Given the description of an element on the screen output the (x, y) to click on. 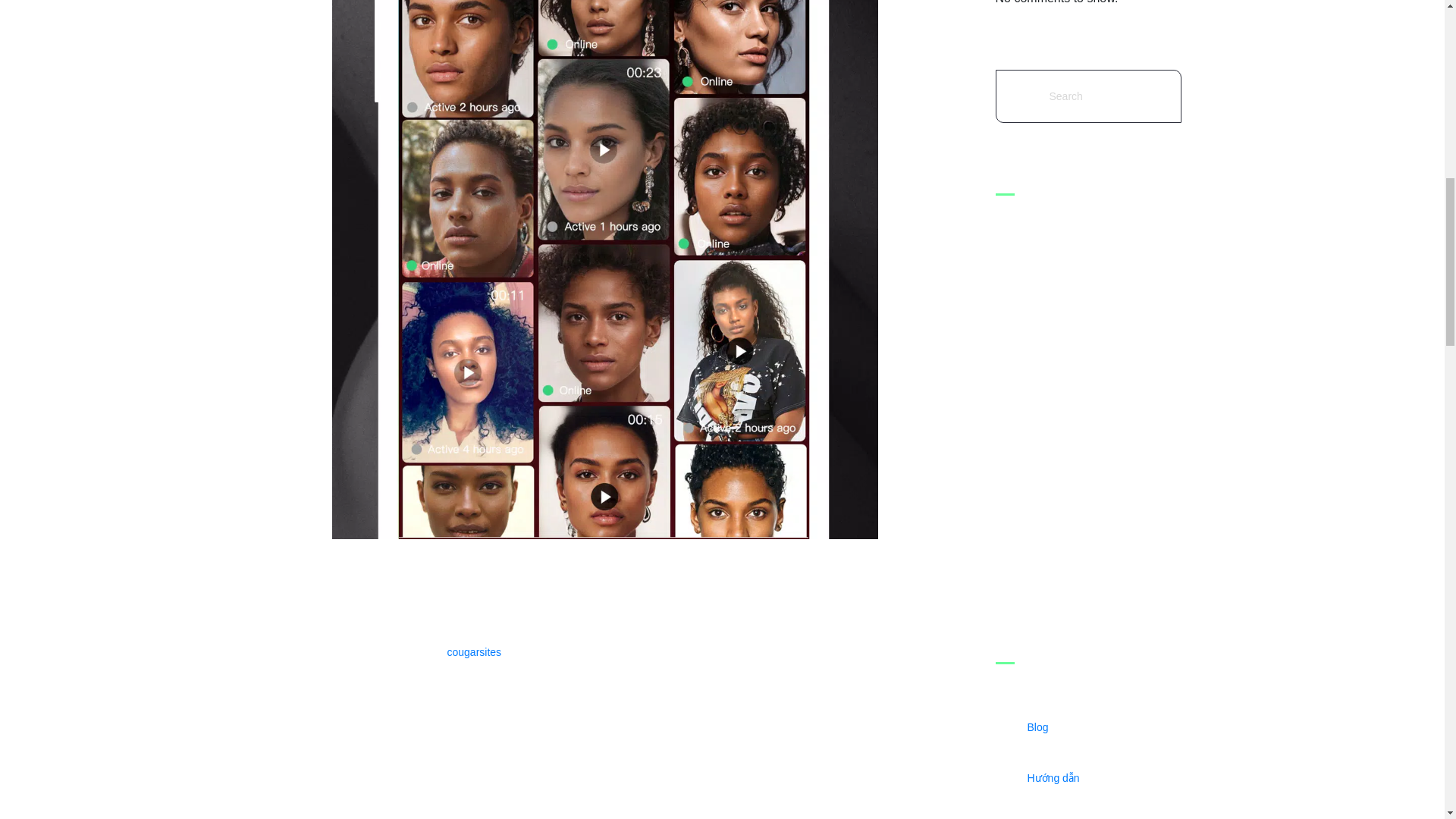
cougarsites (474, 652)
Tiki Vikings Genuine (1095, 258)
British Casino (1095, 423)
On-line poker Internet sites (1095, 474)
